Given the description of an element on the screen output the (x, y) to click on. 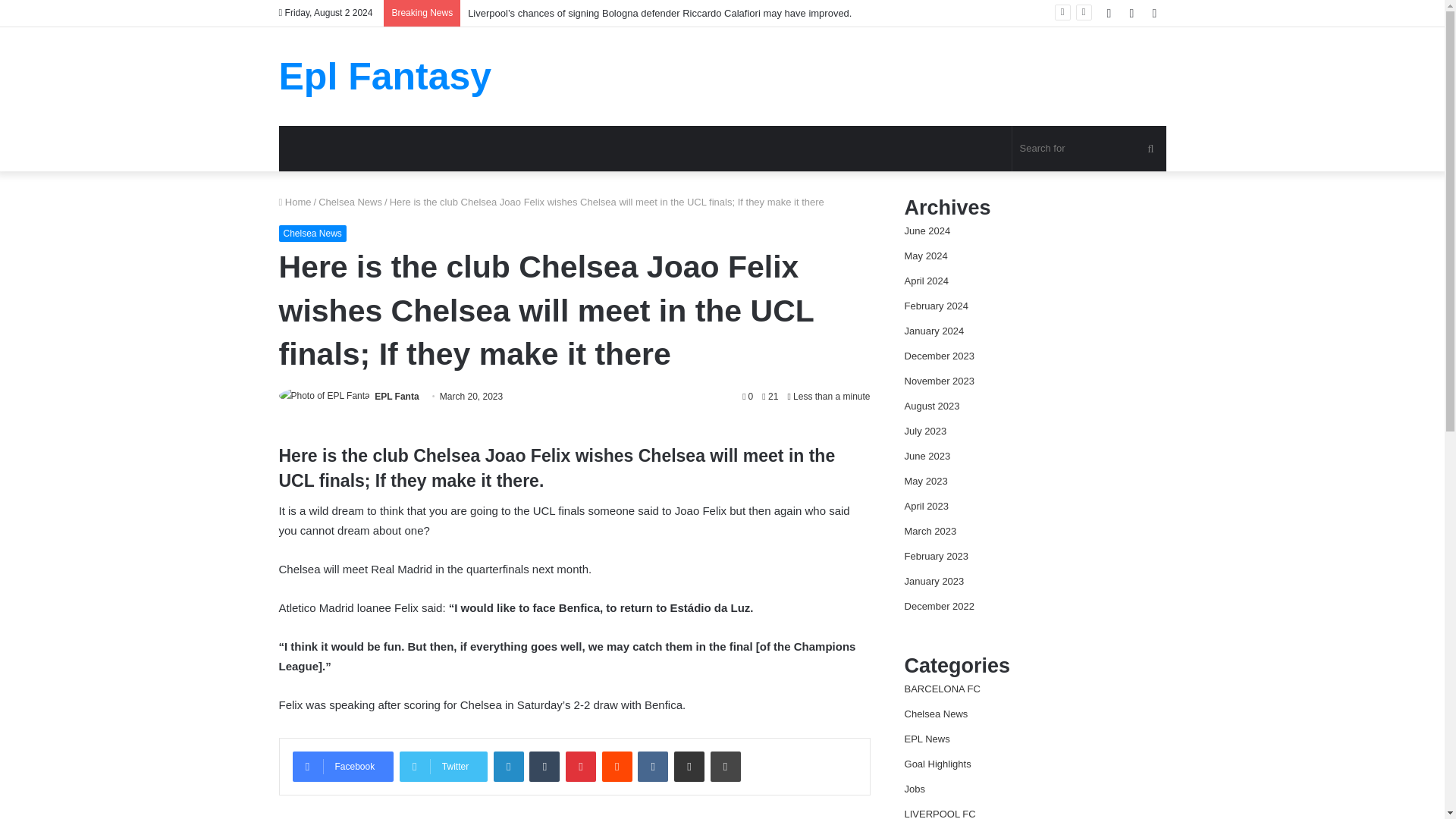
Share via Email (689, 766)
EPL Fanta (396, 396)
Facebook (343, 766)
VKontakte (652, 766)
EPL Fanta (396, 396)
Pinterest (580, 766)
Print (725, 766)
June 2024 (927, 230)
LinkedIn (508, 766)
Search for (1088, 148)
